Given the description of an element on the screen output the (x, y) to click on. 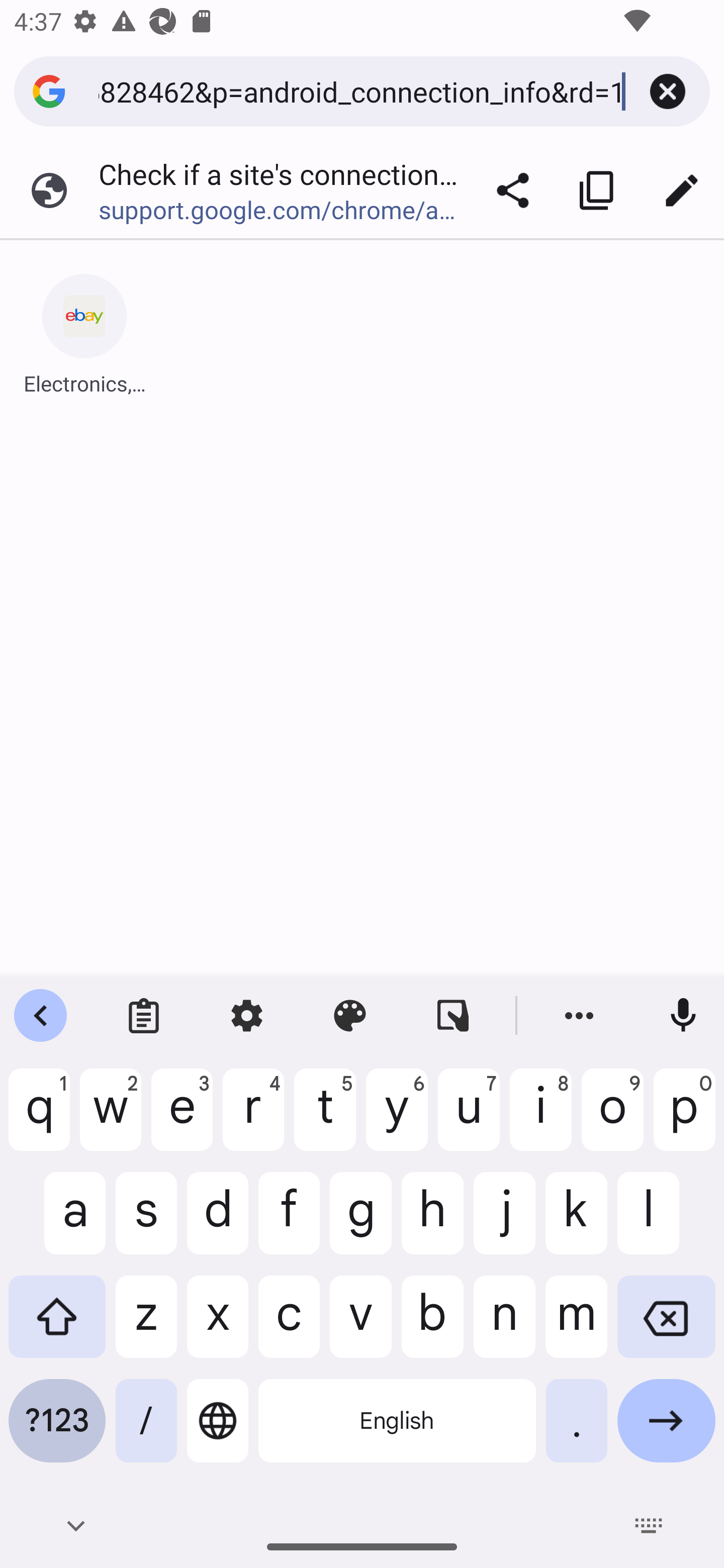
Clear input (667, 91)
Share… (512, 190)
Copy link (597, 190)
Edit (681, 190)
